Given the description of an element on the screen output the (x, y) to click on. 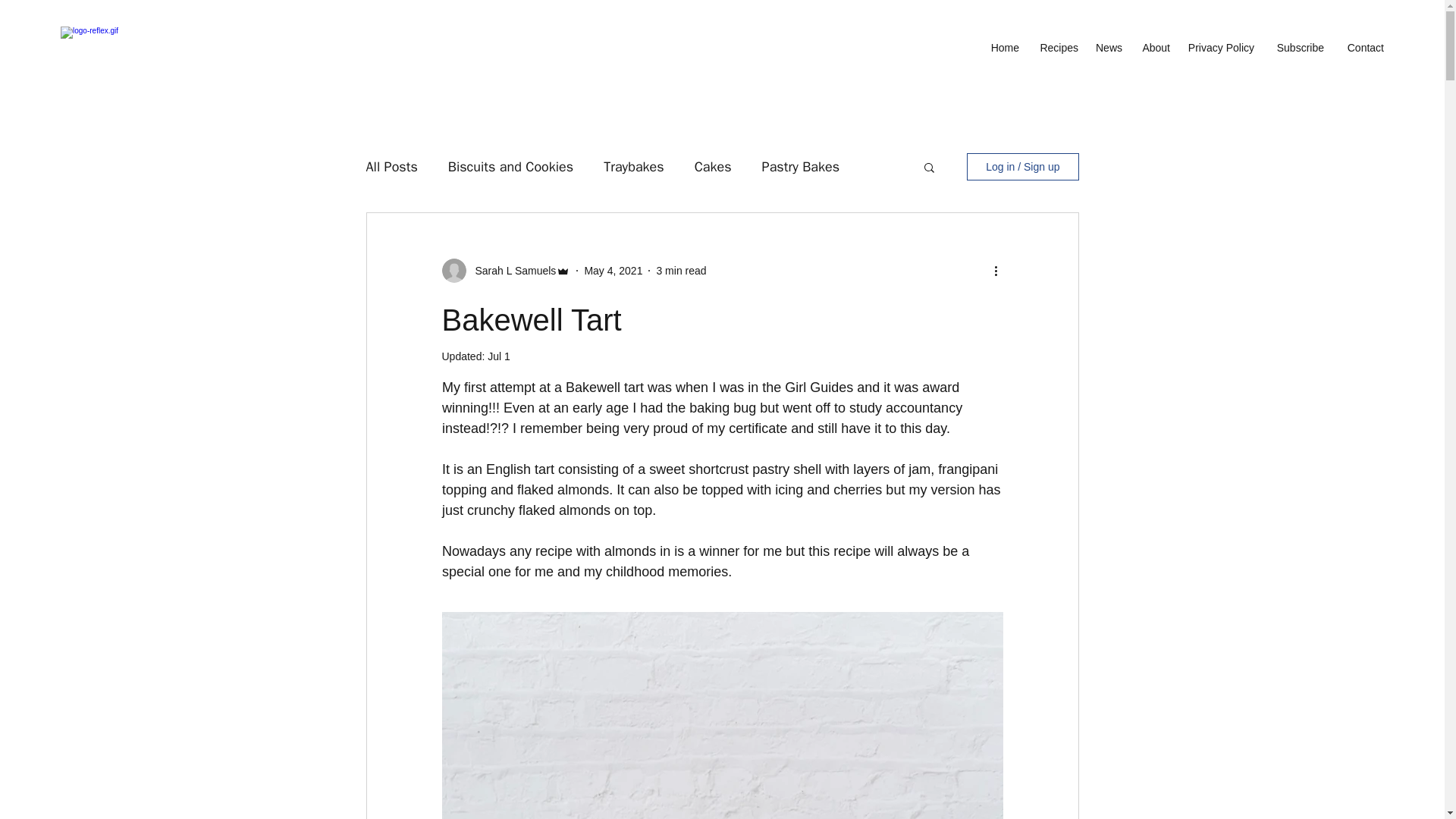
Traybakes (633, 167)
Recipes (1056, 47)
Privacy Policy (1219, 47)
Biscuits and Cookies (510, 167)
Cakes (713, 167)
All Posts (390, 167)
Home (1002, 47)
Subscribe (1297, 47)
Sarah L Samuels (510, 270)
Contact (1361, 47)
